Given the description of an element on the screen output the (x, y) to click on. 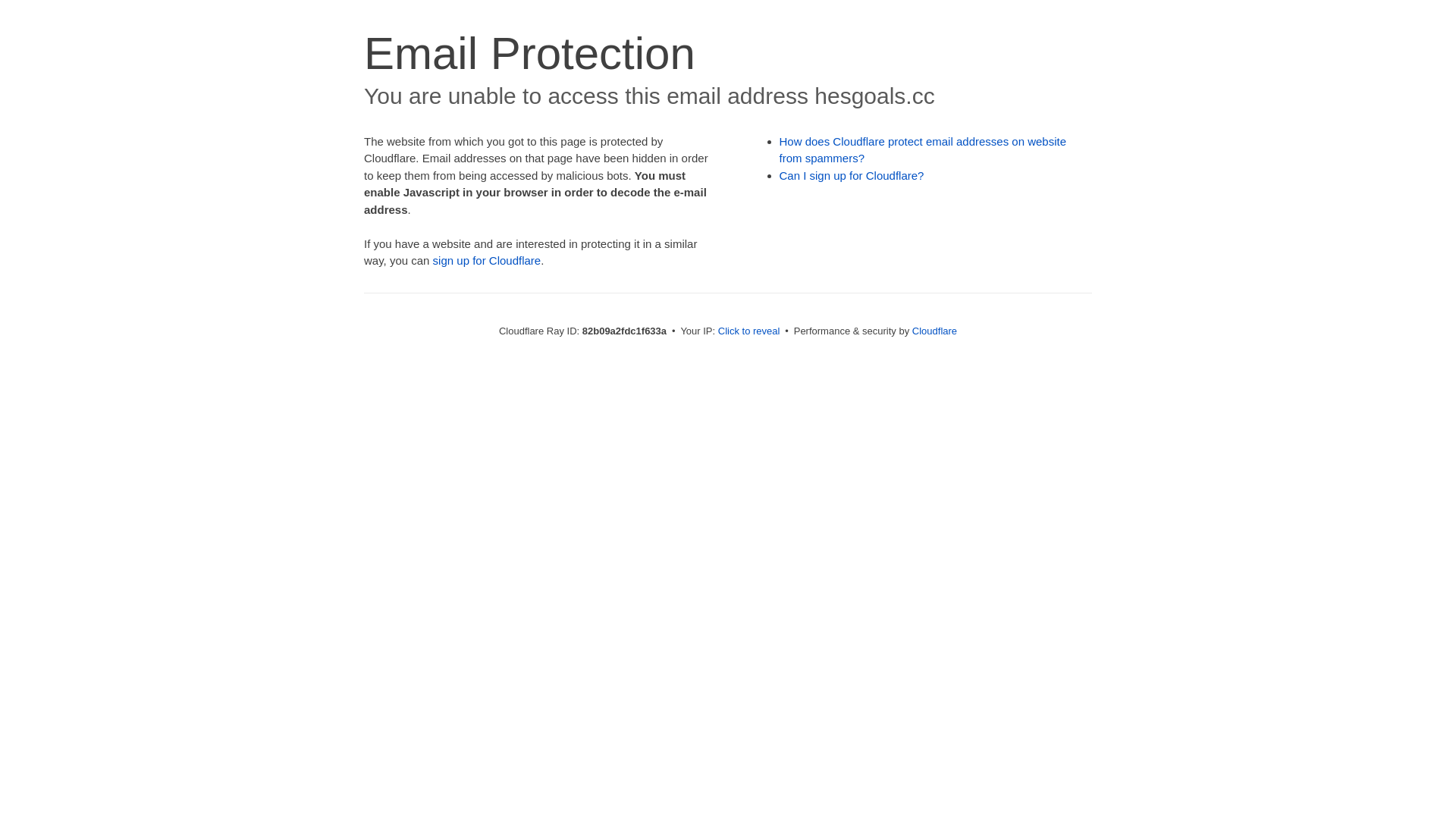
Can I sign up for Cloudflare? Element type: text (851, 175)
Cloudflare Element type: text (934, 330)
sign up for Cloudflare Element type: text (487, 260)
Click to reveal Element type: text (749, 330)
